Given the description of an element on the screen output the (x, y) to click on. 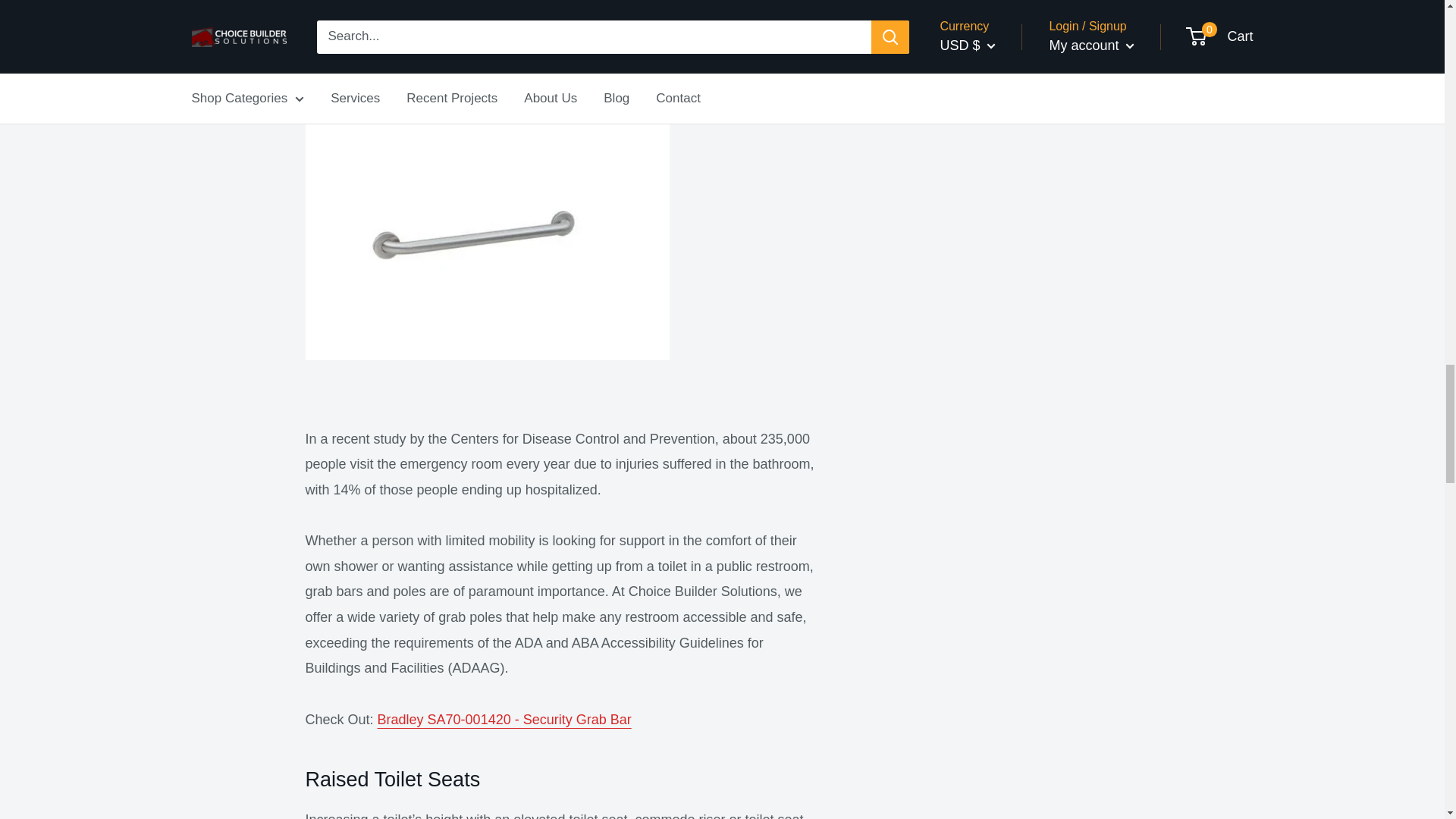
Bradley SA70-001420 - Security Grab Bar (504, 719)
